Given the description of an element on the screen output the (x, y) to click on. 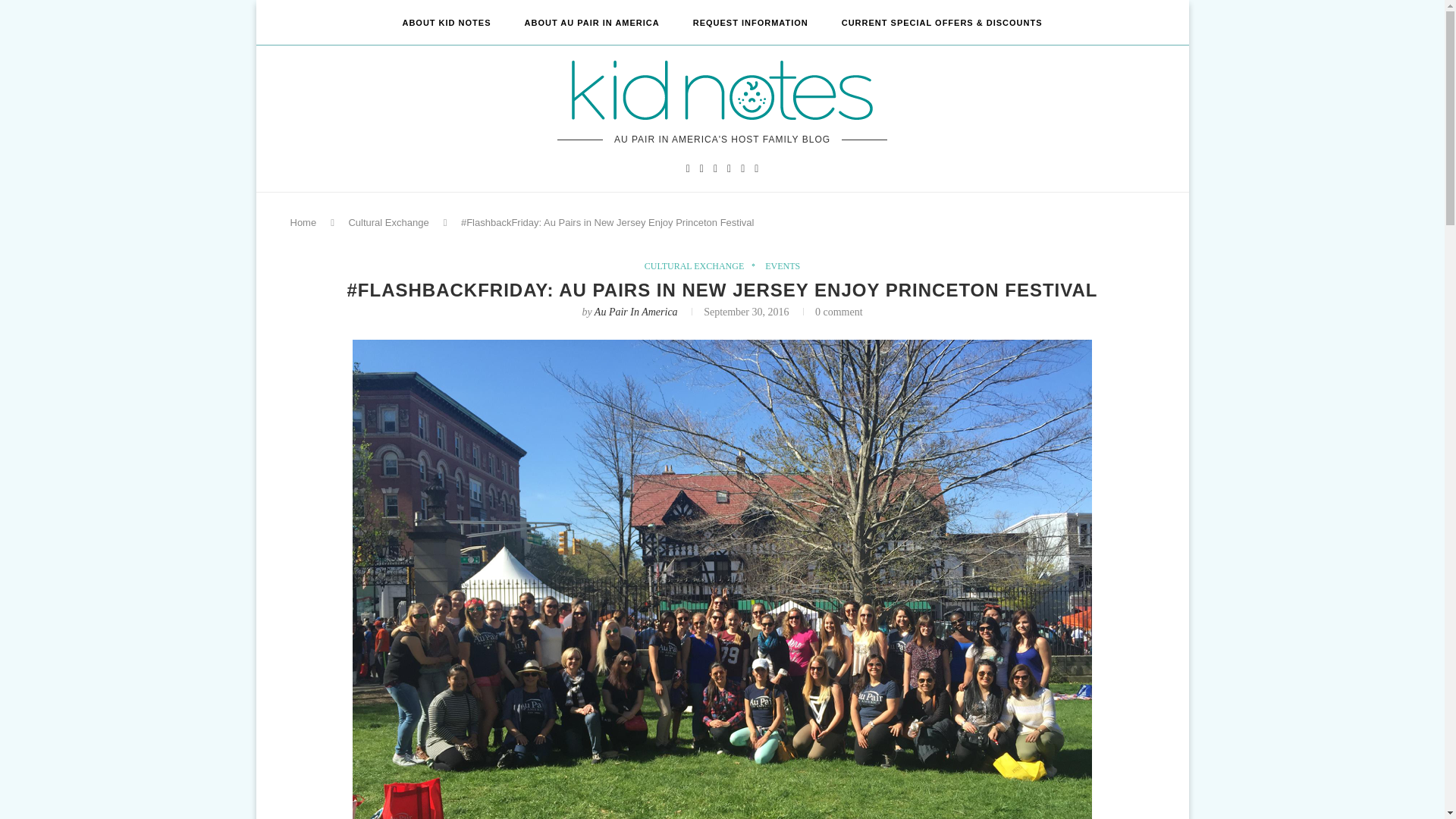
REQUEST INFORMATION (750, 22)
Home (302, 222)
View all posts in Events (782, 266)
ABOUT AU PAIR IN AMERICA (591, 22)
Cultural Exchange (387, 222)
View all posts in Cultural Exchange (698, 266)
ABOUT KID NOTES (445, 22)
CULTURAL EXCHANGE (698, 266)
Au Pair In America (636, 311)
EVENTS (782, 266)
